Given the description of an element on the screen output the (x, y) to click on. 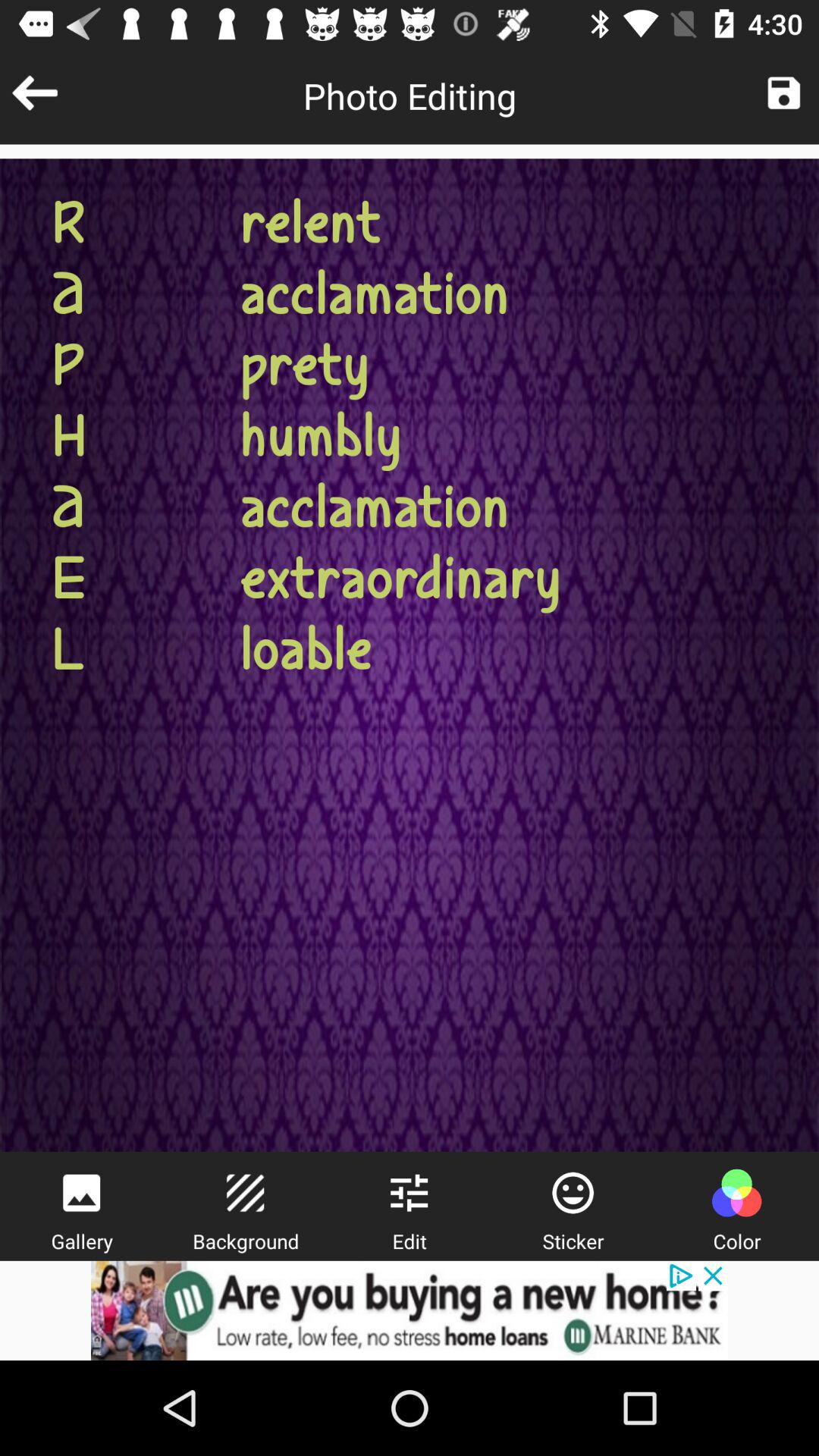
edit the photo (409, 1192)
